Given the description of an element on the screen output the (x, y) to click on. 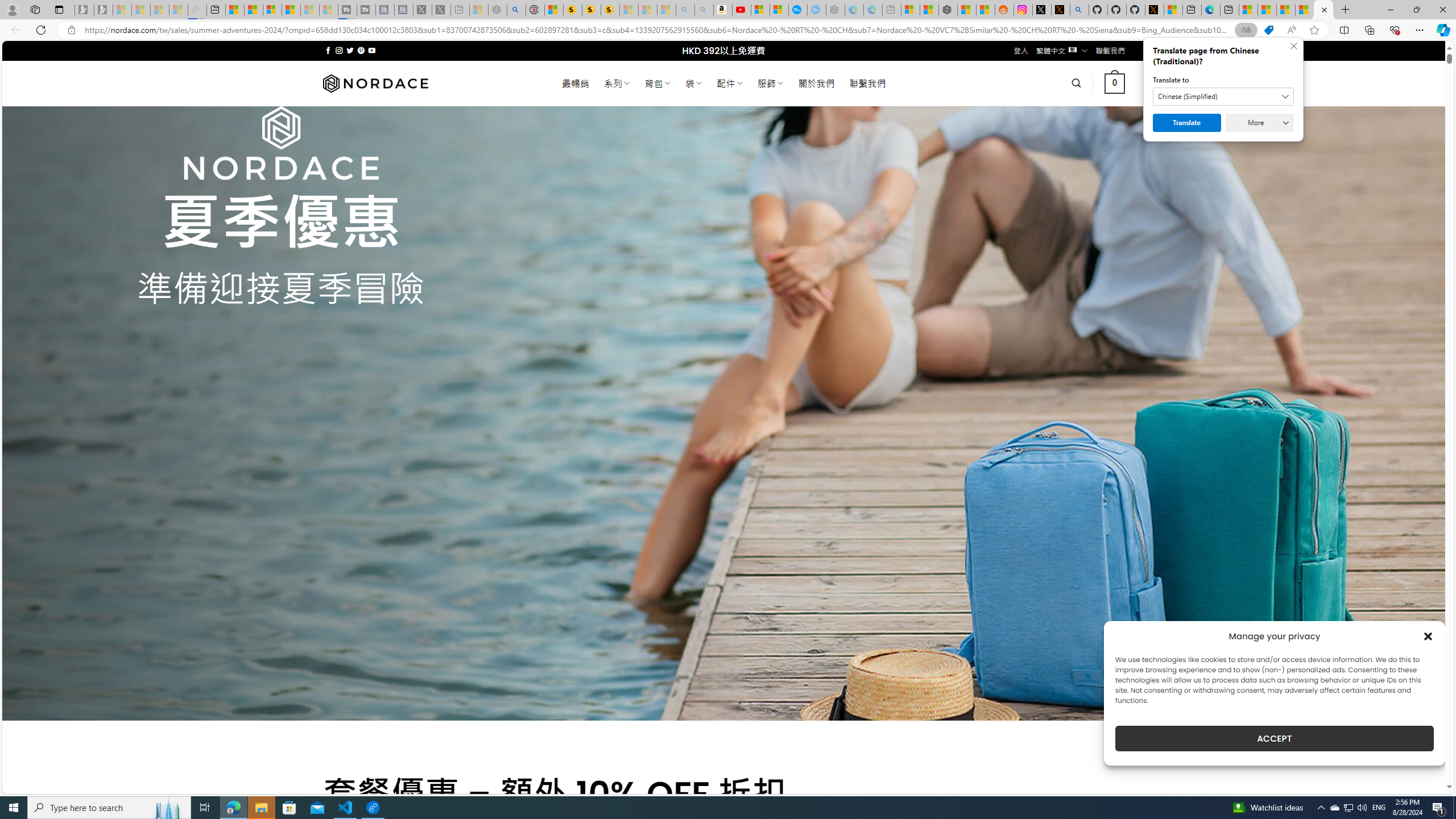
Settings and more (Alt+F) (1419, 29)
Streaming Coverage | T3 - Sleeping (347, 9)
Nordace - Nordace has arrived Hong Kong - Sleeping (835, 9)
Wildlife - MSN - Sleeping (478, 9)
Nordace - Duffels (947, 9)
View site information (70, 29)
More (1259, 122)
Tab actions menu (58, 9)
Personal Profile (12, 9)
